Given the description of an element on the screen output the (x, y) to click on. 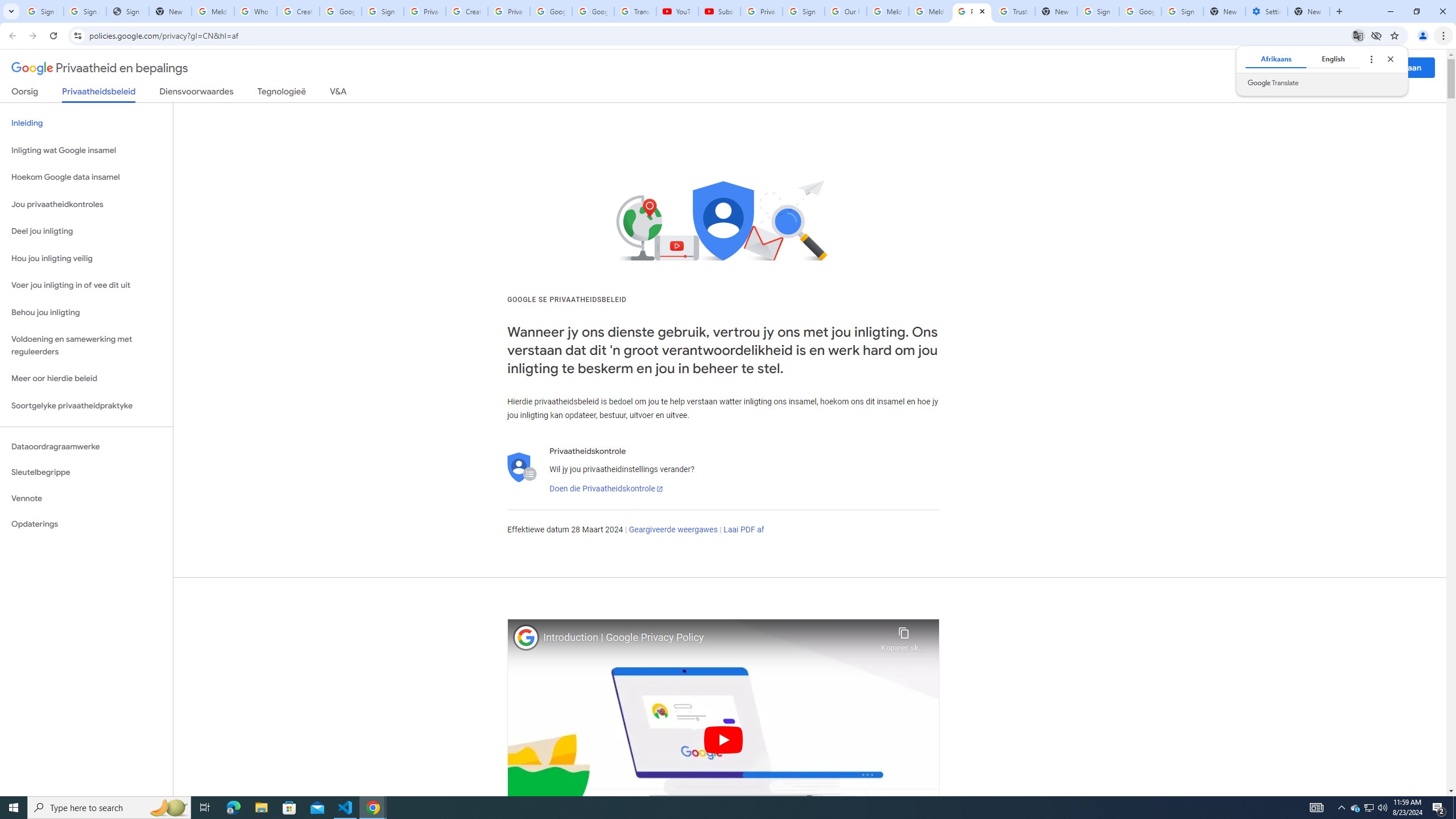
Inleiding (86, 122)
Sign in - Google Accounts (382, 11)
Introduction | Google Privacy Policy (709, 637)
Dataoordragraamwerke (86, 446)
